Given the description of an element on the screen output the (x, y) to click on. 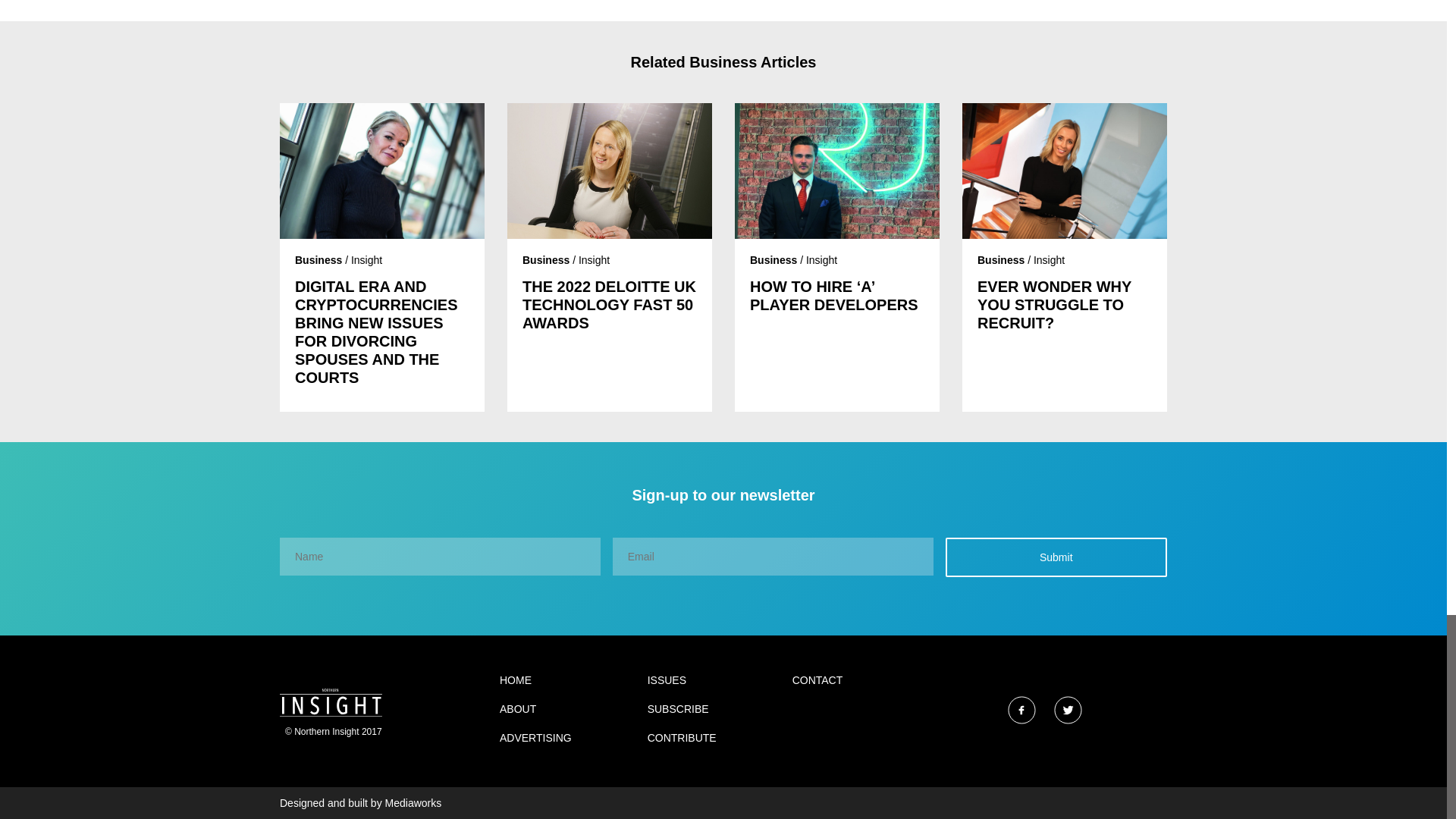
Submit (1055, 557)
EVER WONDER WHY YOU STRUGGLE TO RECRUIT? (1063, 304)
Submit (1055, 557)
THE 2022 DELOITTE UK TECHNOLOGY FAST 50 AWARDS (609, 304)
